Given the description of an element on the screen output the (x, y) to click on. 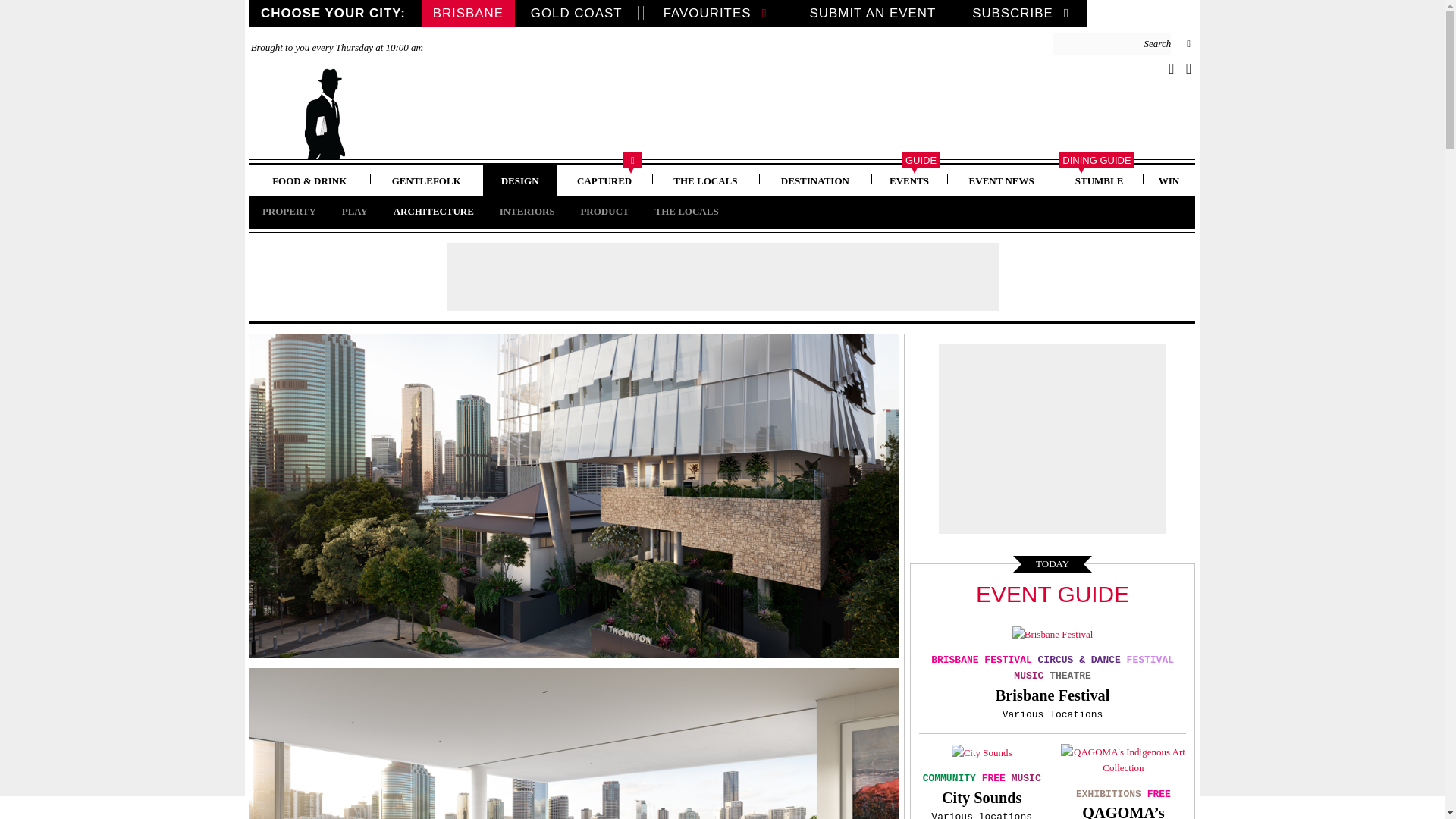
Event News (1000, 180)
Submit an Event to our Guide (872, 13)
CAPTURED (604, 180)
EVENTS (909, 180)
PROPERTY (288, 210)
THE LOCALS (686, 210)
STUMBLE (1099, 180)
PLAY (354, 210)
THE LOCALS (705, 180)
Design (519, 180)
